Given the description of an element on the screen output the (x, y) to click on. 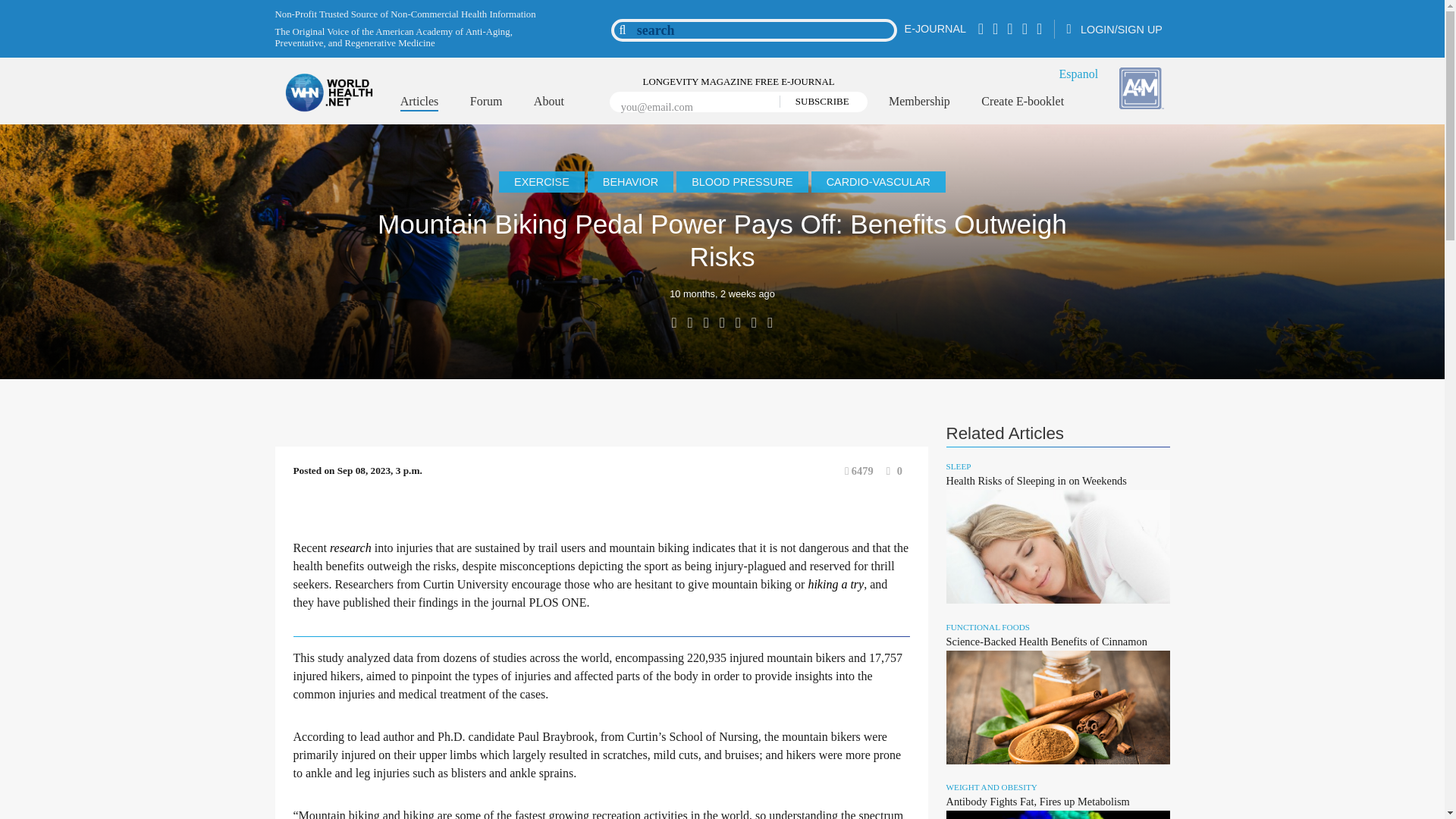
Create E-booklet (1022, 102)
Espanol (1079, 73)
subscribe (817, 101)
subscribe (817, 101)
Forum (486, 102)
About (549, 102)
Membership (919, 102)
Articles (419, 103)
E-JOURNAL (935, 28)
